Given the description of an element on the screen output the (x, y) to click on. 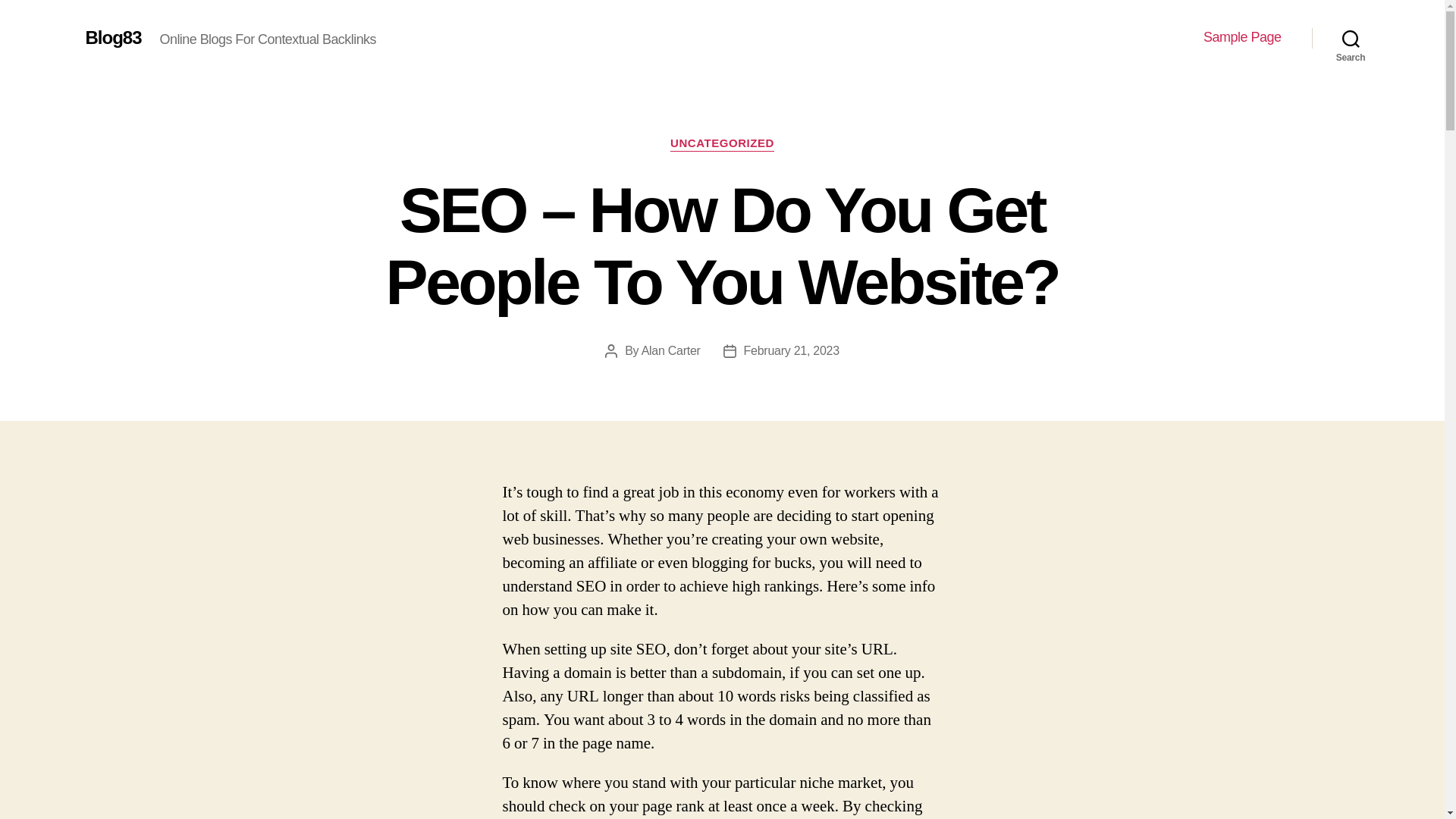
Sample Page (1242, 37)
UNCATEGORIZED (721, 143)
Search (1350, 37)
Alan Carter (671, 350)
Blog83 (112, 37)
February 21, 2023 (792, 350)
